Given the description of an element on the screen output the (x, y) to click on. 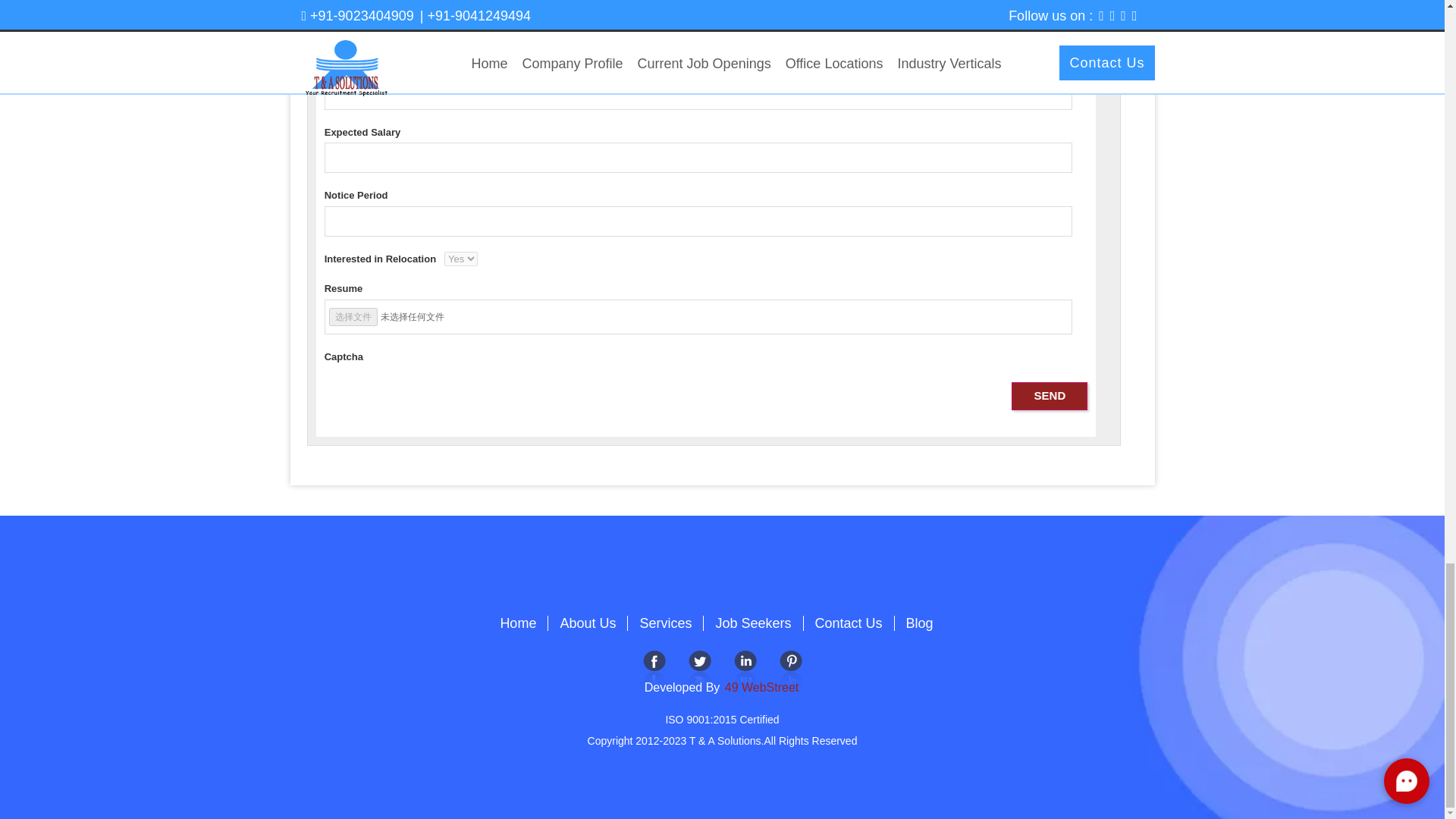
Send (1049, 396)
